Given the description of an element on the screen output the (x, y) to click on. 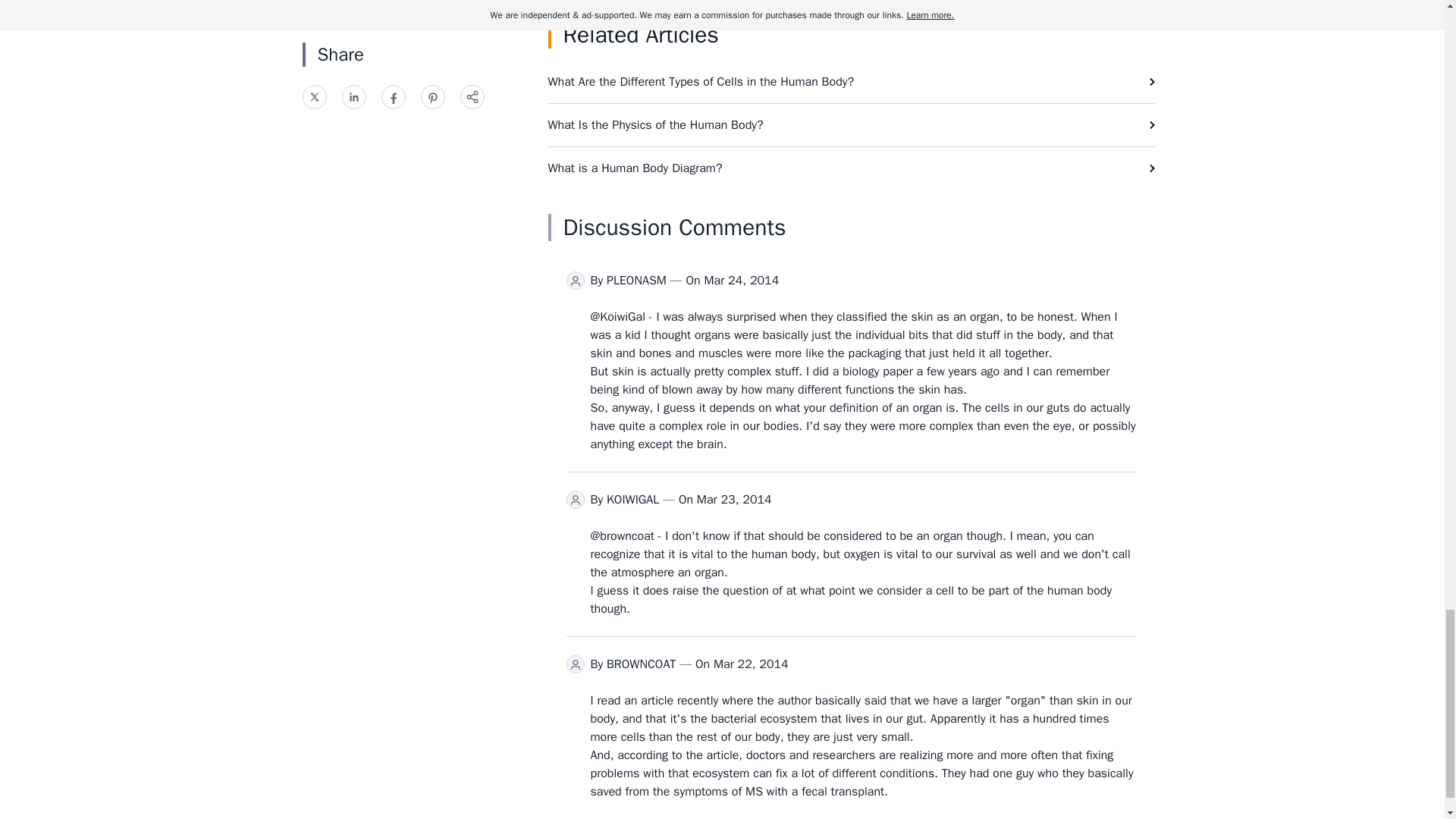
What Are the Different Types of Cells in the Human Body? (850, 81)
